Given the description of an element on the screen output the (x, y) to click on. 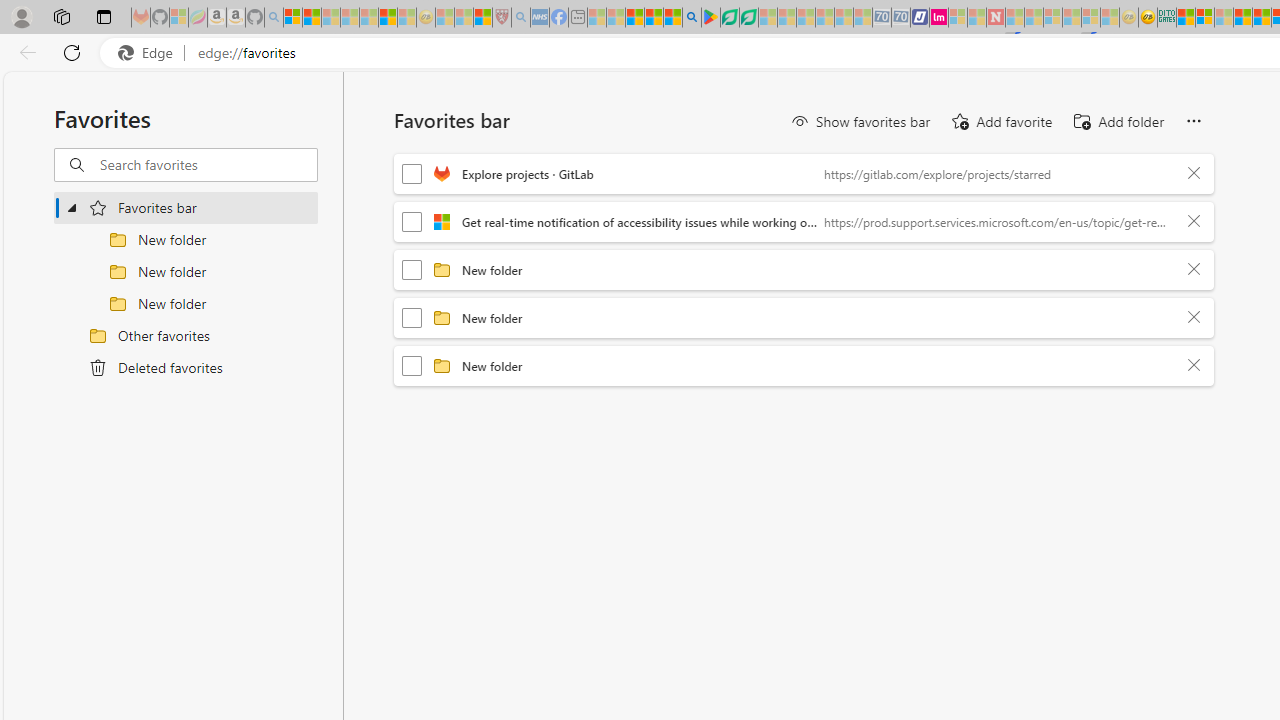
New folder (817, 365)
Terms of Use Agreement (729, 17)
FolderNew folder (803, 365)
Microsoft Word - consumer-privacy address update 2.2021 (748, 17)
